Given the description of an element on the screen output the (x, y) to click on. 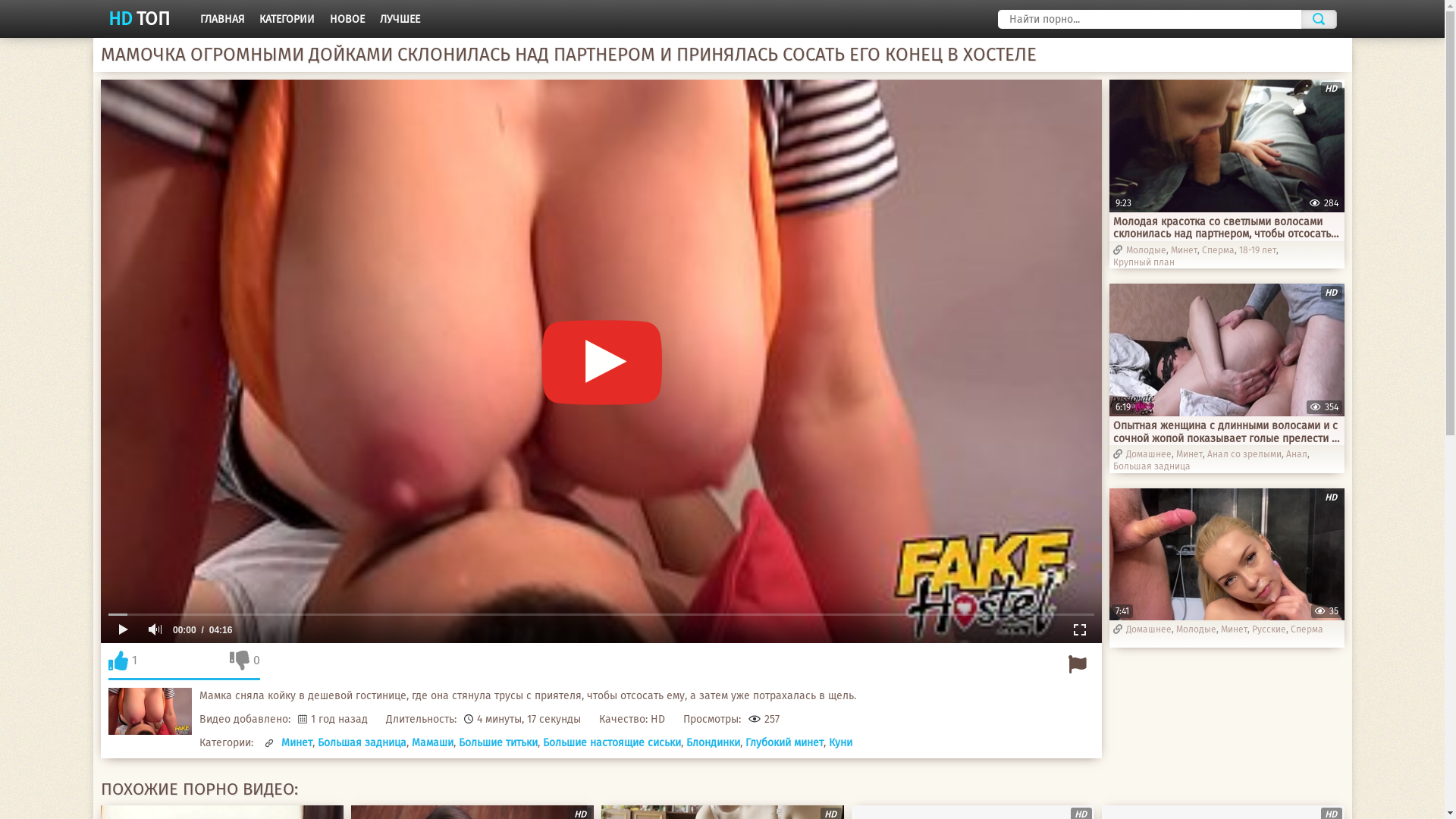
HD
7:41
35 Element type: text (1225, 554)
